Given the description of an element on the screen output the (x, y) to click on. 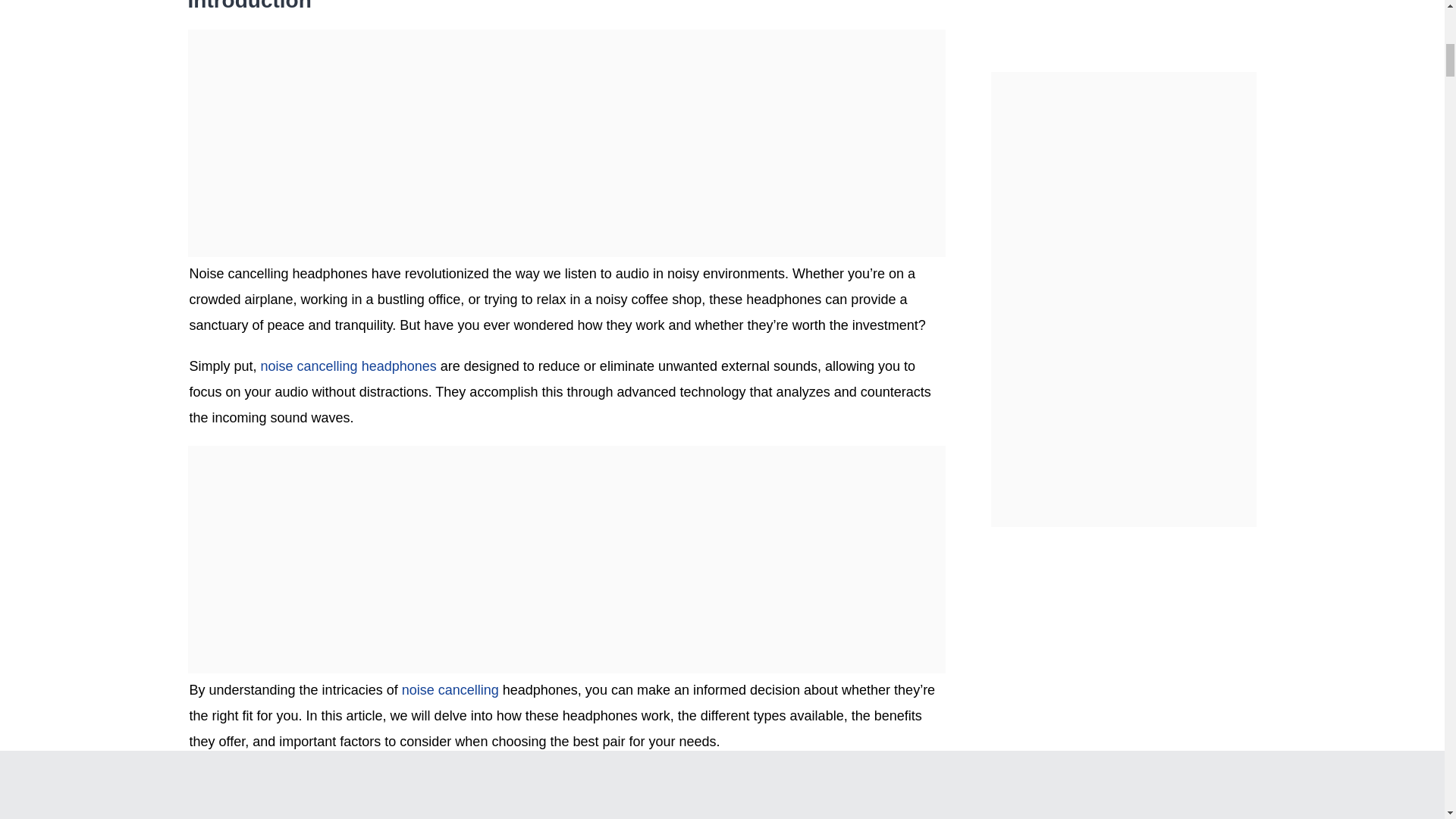
noise cancelling headphones (348, 365)
noise cancelling (450, 689)
